Given the description of an element on the screen output the (x, y) to click on. 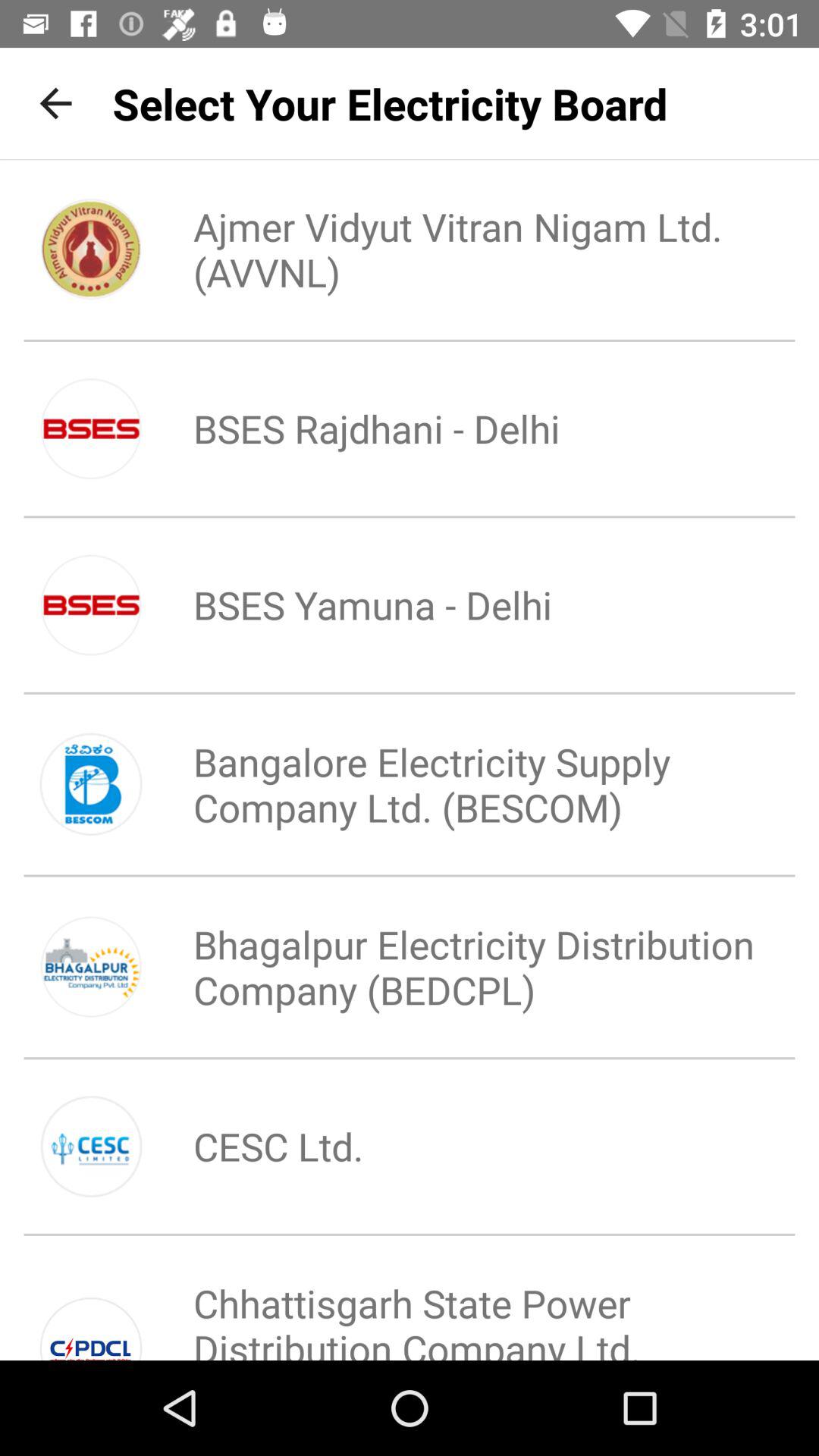
click select your electricity item (389, 103)
